Given the description of an element on the screen output the (x, y) to click on. 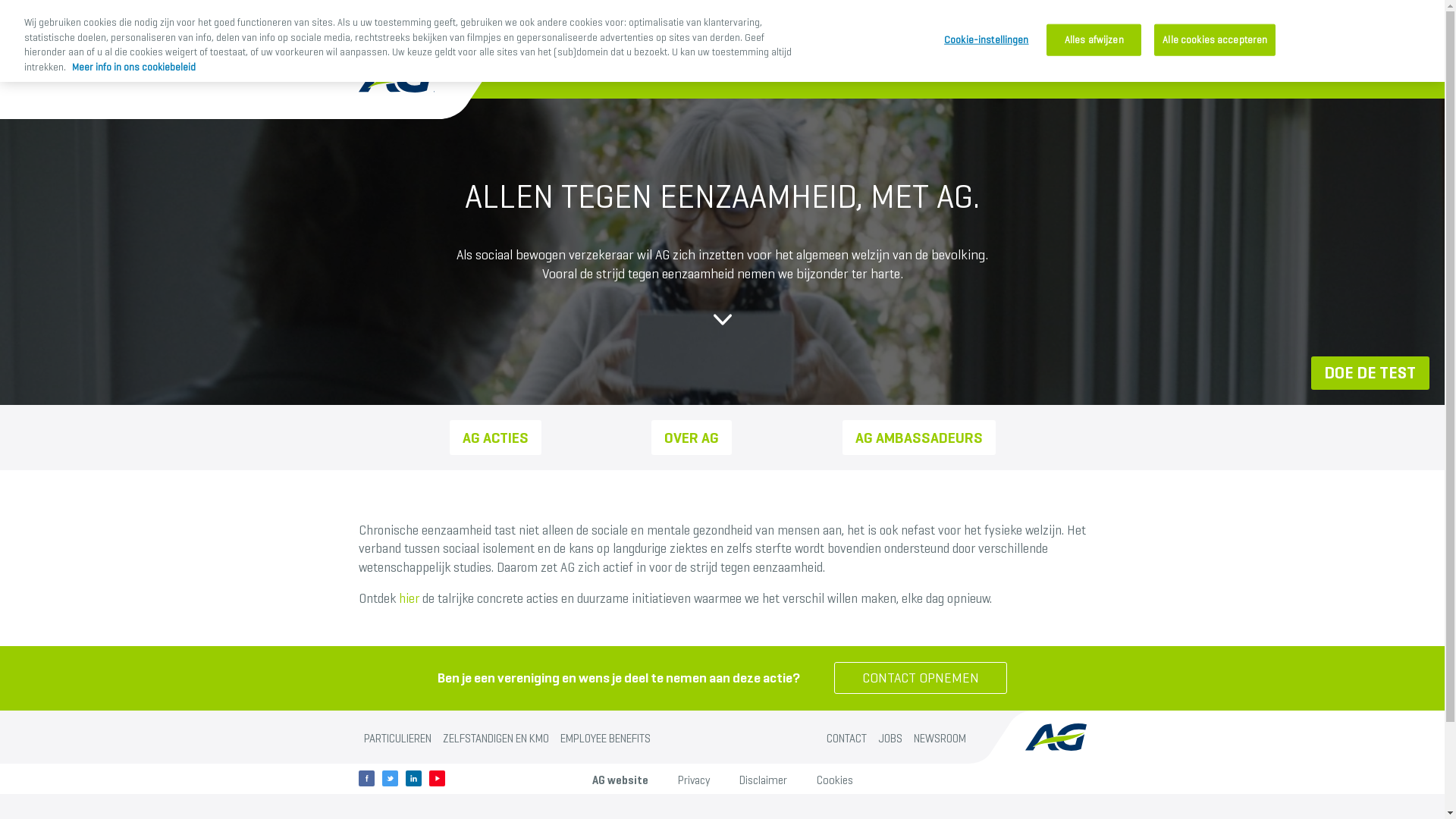
OVER AG Element type: text (691, 437)
CONTACT Element type: text (846, 738)
NL Element type: text (1068, 28)
CONTACT OPNEMEN Element type: text (920, 677)
De gevolgen Element type: text (620, 27)
HOE HELPEN Element type: text (972, 27)
DOE DE TEST Element type: text (894, 27)
EMPLOYEE BENEFITS Element type: text (605, 738)
Disclaimer Element type: text (762, 779)
ZELFSTANDIGEN EN KMO Element type: text (495, 738)
DOE DE TEST Element type: text (1370, 372)
AG Element type: text (828, 28)
Tips & Tools Element type: text (693, 27)
AG website Element type: text (619, 780)
JOBS Element type: text (889, 738)
Privacy Element type: text (693, 779)
FR Element type: text (1036, 27)
AG AMBASSADEURS Element type: text (917, 437)
Cookies Element type: text (834, 779)
NEWSROOM Element type: text (940, 738)
hier Element type: text (408, 597)
AG ACTIES Element type: text (494, 437)
PARTICULIEREN Element type: text (396, 738)
Verenigingen Element type: text (769, 27)
